Given the description of an element on the screen output the (x, y) to click on. 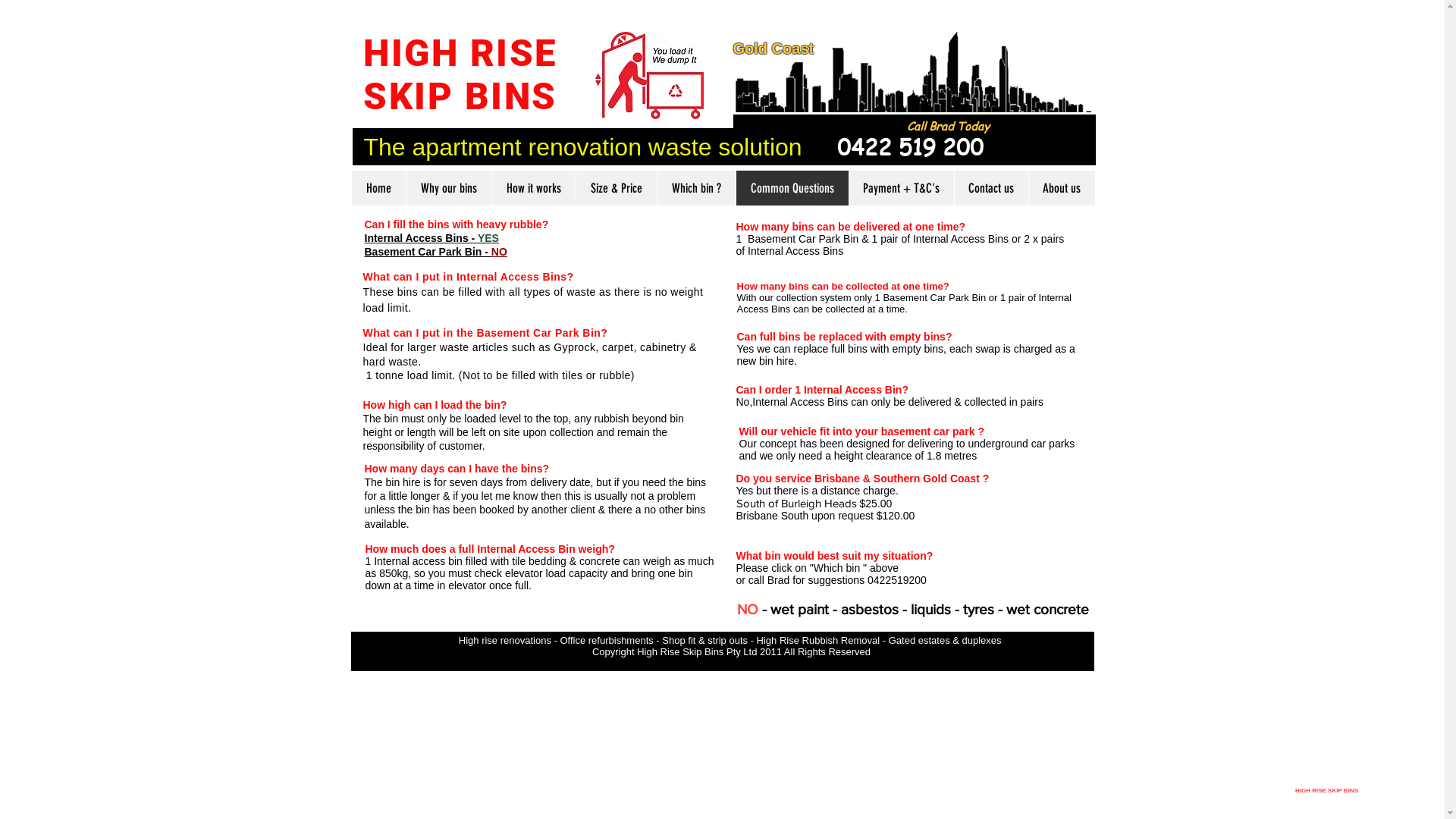
Home Element type: text (378, 187)
Why our bins Element type: text (447, 187)
Contact us Element type: text (990, 187)
How it works Element type: text (533, 187)
Payment + T&C's Element type: text (900, 187)
Common Questions Element type: text (791, 187)
Size & Price Element type: text (614, 187)
About us Element type: text (1061, 187)
Which bin ? Element type: text (695, 187)
